Given the description of an element on the screen output the (x, y) to click on. 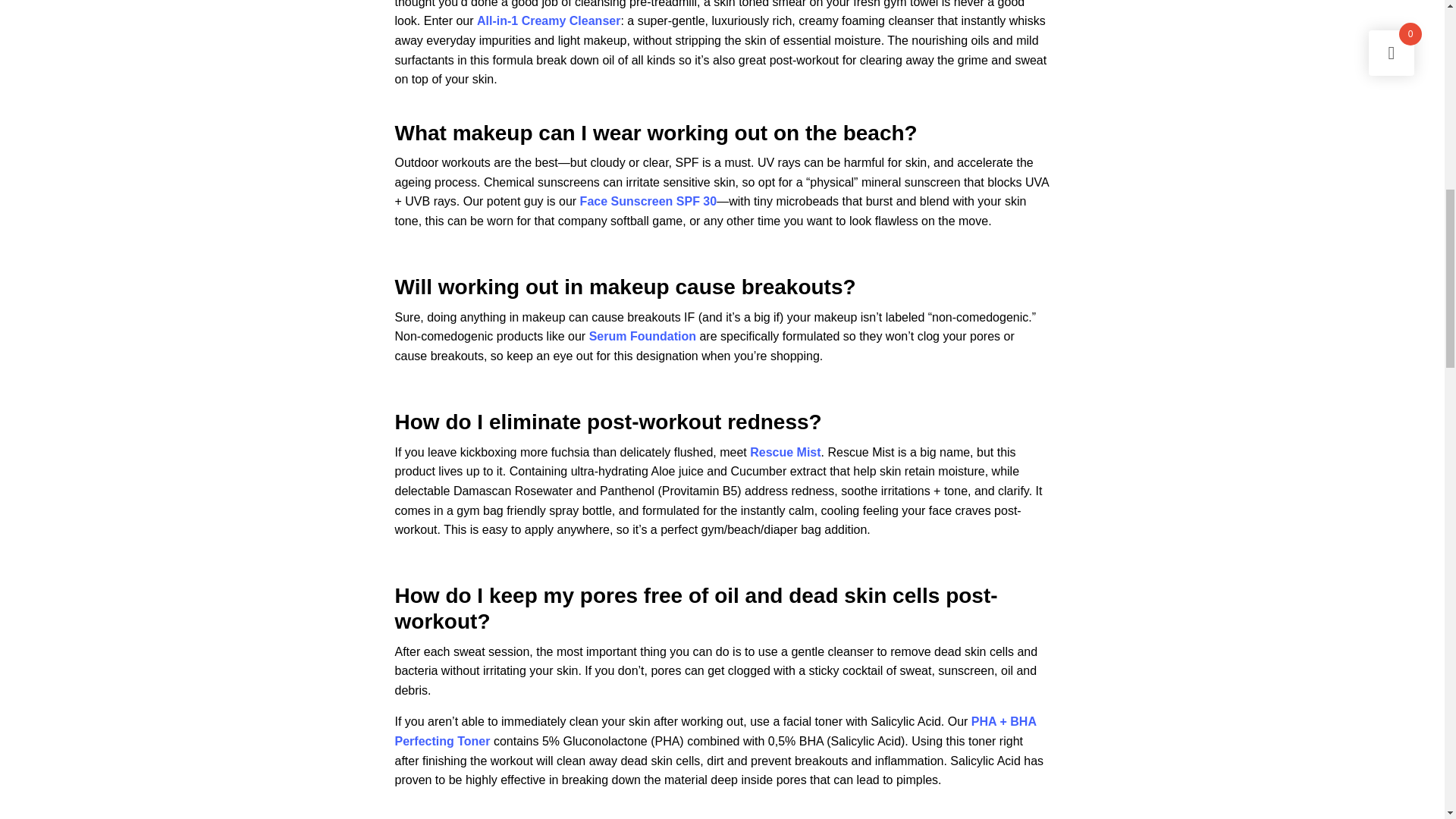
Face Sunscreen SPF 30 (648, 201)
Serum Foundation (642, 336)
All-in-1 Creamy Cleanser (548, 20)
Rescue Mist (785, 451)
